Given the description of an element on the screen output the (x, y) to click on. 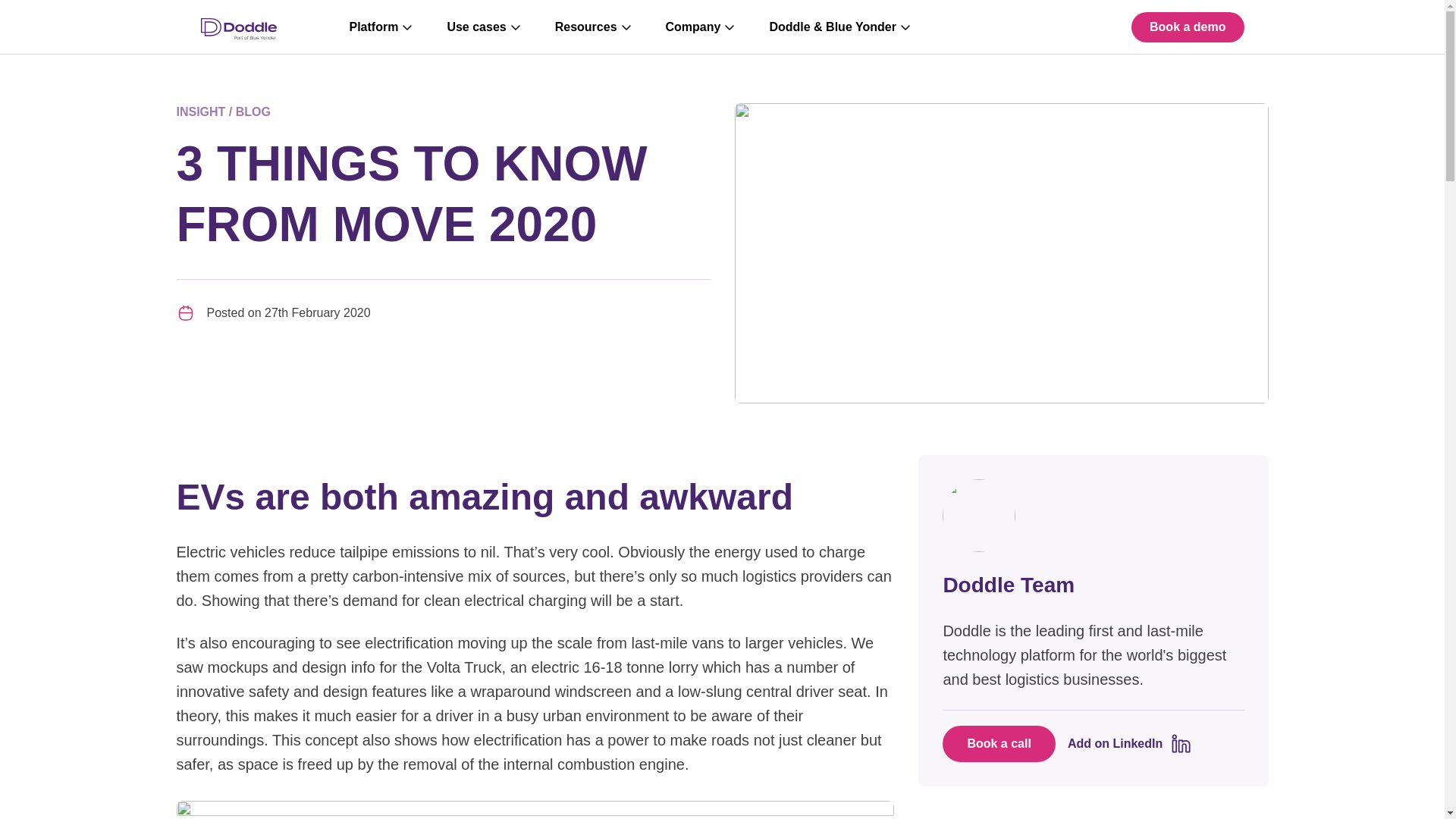
Platform (382, 27)
Use cases (485, 27)
Company (702, 27)
Resources (594, 27)
